Given the description of an element on the screen output the (x, y) to click on. 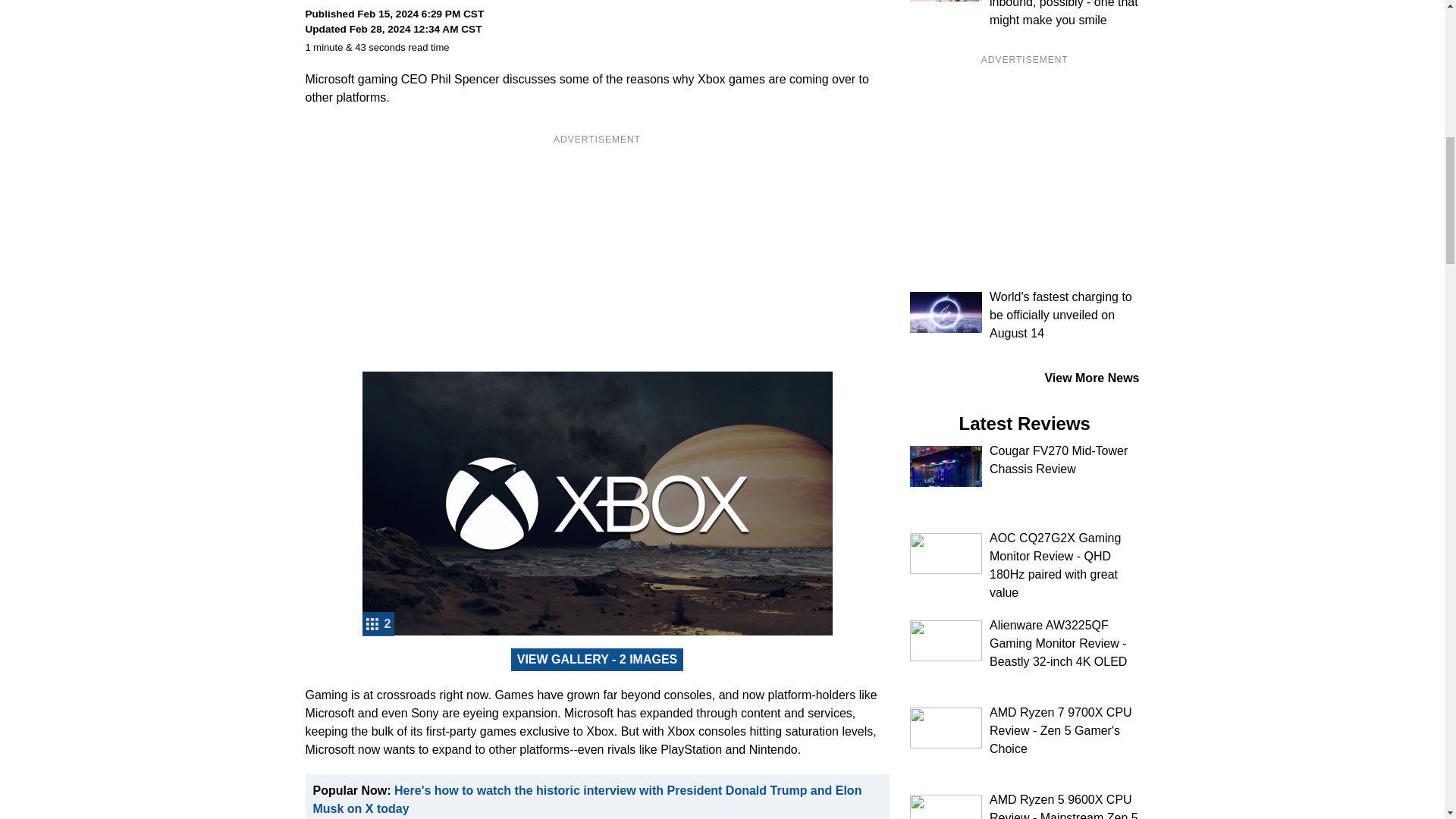
Open Gallery (597, 659)
Open Gallery (378, 623)
Microsoft wants to 'use other platforms' to grow Xbox 1 (597, 503)
